Given the description of an element on the screen output the (x, y) to click on. 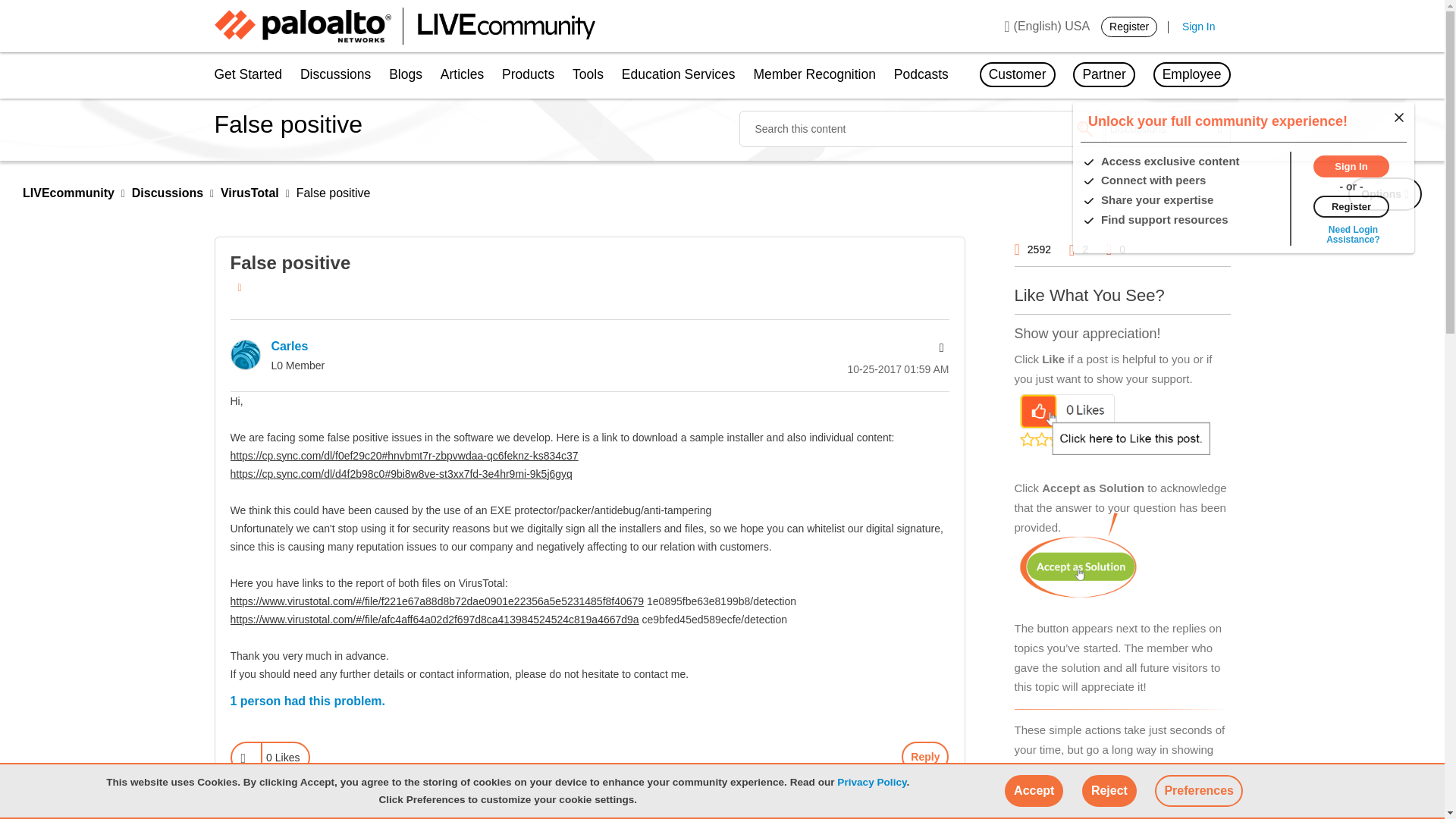
Privacy Policy (871, 781)
Sign In (1351, 164)
Reject (1109, 790)
Register (1351, 205)
Search (920, 128)
Search (1084, 128)
View more (1353, 234)
Sign In (1198, 26)
Get Started (251, 75)
Search (1084, 128)
Discussions (335, 75)
Accept (1033, 790)
Preferences (1198, 790)
Register (1128, 26)
Search Granularity (1167, 128)
